Given the description of an element on the screen output the (x, y) to click on. 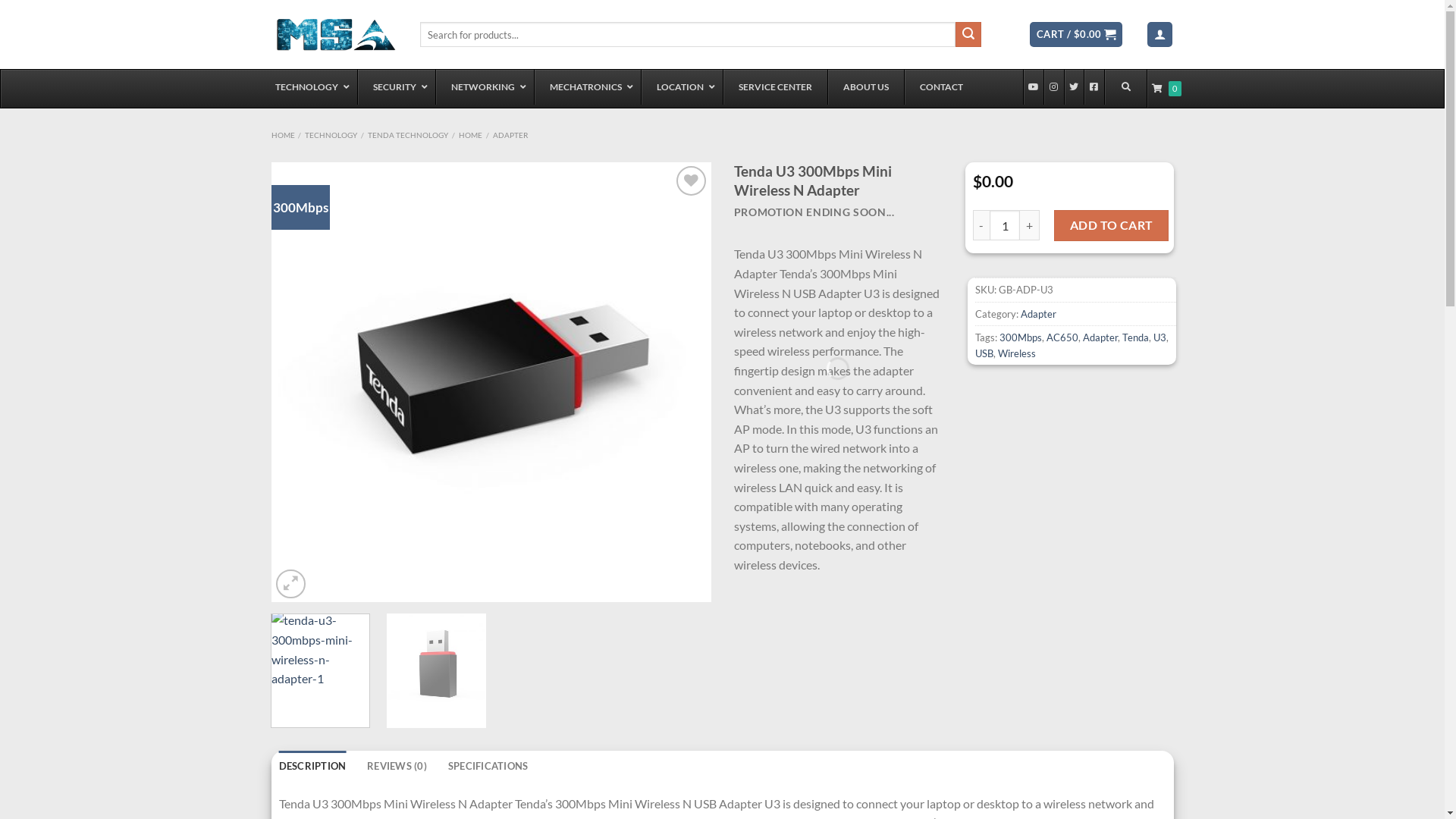
USB Element type: text (984, 353)
300Mbps Element type: text (1020, 337)
NETWORKING Element type: text (484, 86)
Adapter Element type: text (1099, 337)
SERVICE CENTER Element type: text (773, 86)
Search Element type: text (968, 34)
HOME Element type: text (282, 135)
U3 Element type: text (1158, 337)
SPECIFICATIONS Element type: text (488, 765)
CONTACT Element type: text (940, 86)
TECHNOLOGY Element type: text (307, 86)
Zoom Element type: hover (290, 584)
Tenda Element type: text (1135, 337)
ADAPTER Element type: text (509, 135)
Wireless Element type: text (1016, 353)
LOCATION Element type: text (680, 86)
tenda-u3-300mbps-mini-wireless-n-adapter Element type: hover (931, 382)
MECHATRONICS Element type: text (586, 86)
TECHNOLOGY Element type: text (330, 135)
REVIEWS (0) Element type: text (396, 765)
tenda-u3-300mbps-mini-wireless-n-adapter-1 Element type: hover (491, 382)
CART / $0.00 Element type: text (1075, 34)
TENDA TECHNOLOGY Element type: text (407, 135)
HOME Element type: text (470, 135)
AC650 Element type: text (1062, 337)
SECURITY Element type: text (395, 86)
Qty Element type: hover (1004, 225)
Send Element type: text (1315, 434)
DESCRIPTION Element type: text (312, 765)
0 Element type: text (1165, 88)
ADD TO CART Element type: text (1111, 225)
ABOUT US Element type: text (864, 86)
Adapter Element type: text (1038, 313)
MSACOM - Telecommunication Expert! Element type: hover (334, 34)
